Given the description of an element on the screen output the (x, y) to click on. 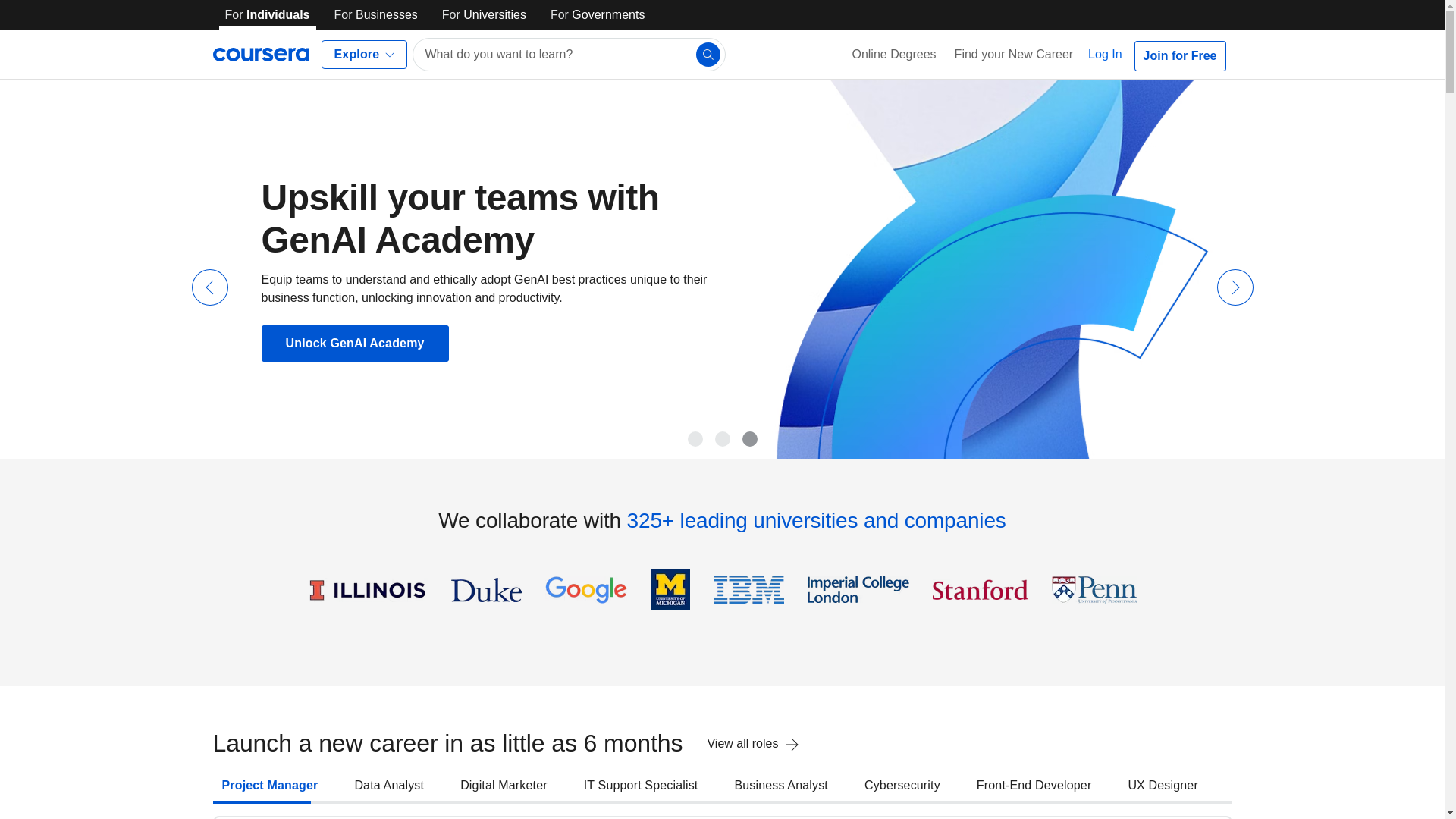
For Universities (483, 15)
For Individuals (266, 15)
Explore (364, 54)
For Governments (597, 15)
For Businesses (376, 15)
